Given the description of an element on the screen output the (x, y) to click on. 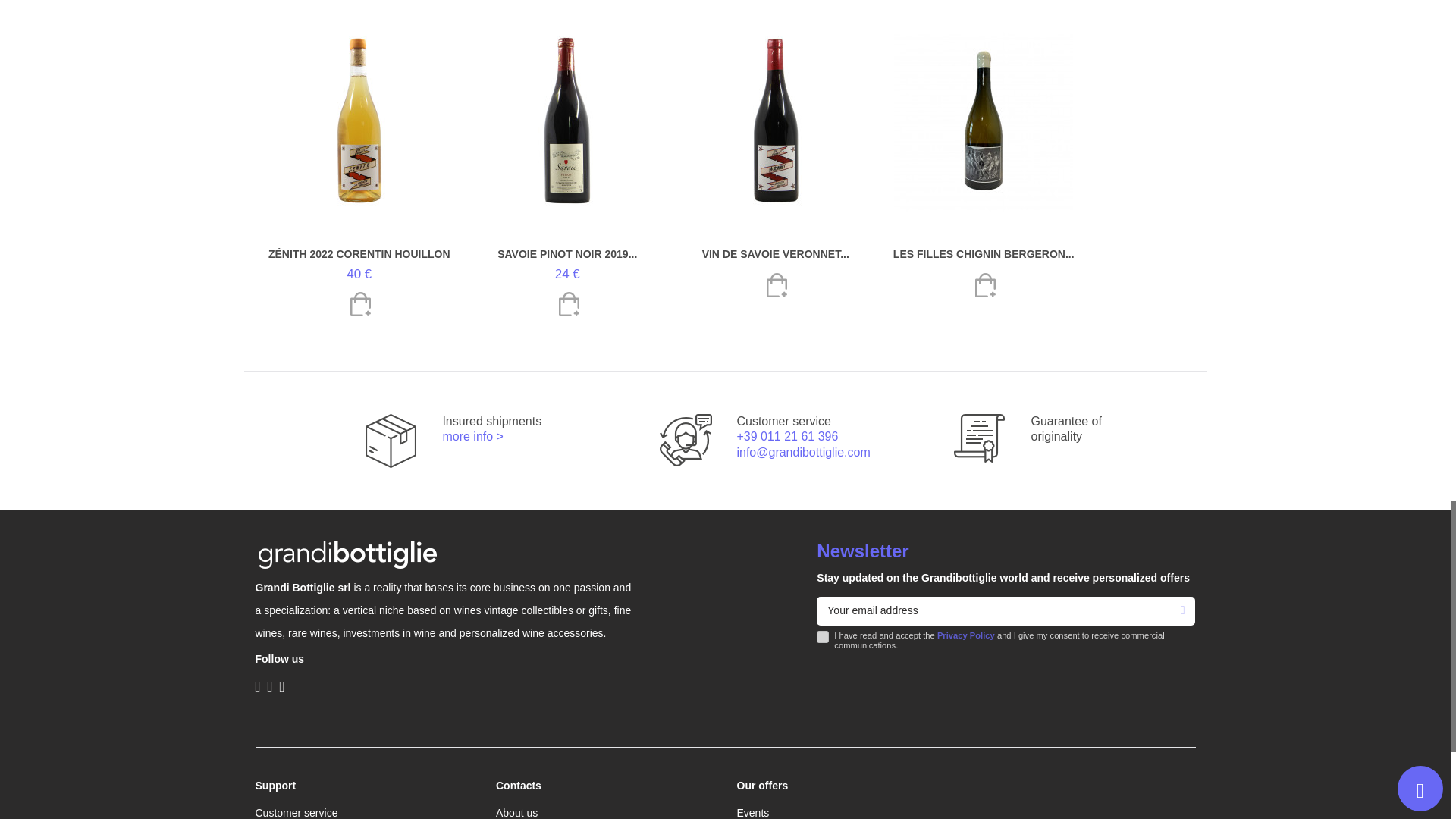
About us (516, 812)
